Given the description of an element on the screen output the (x, y) to click on. 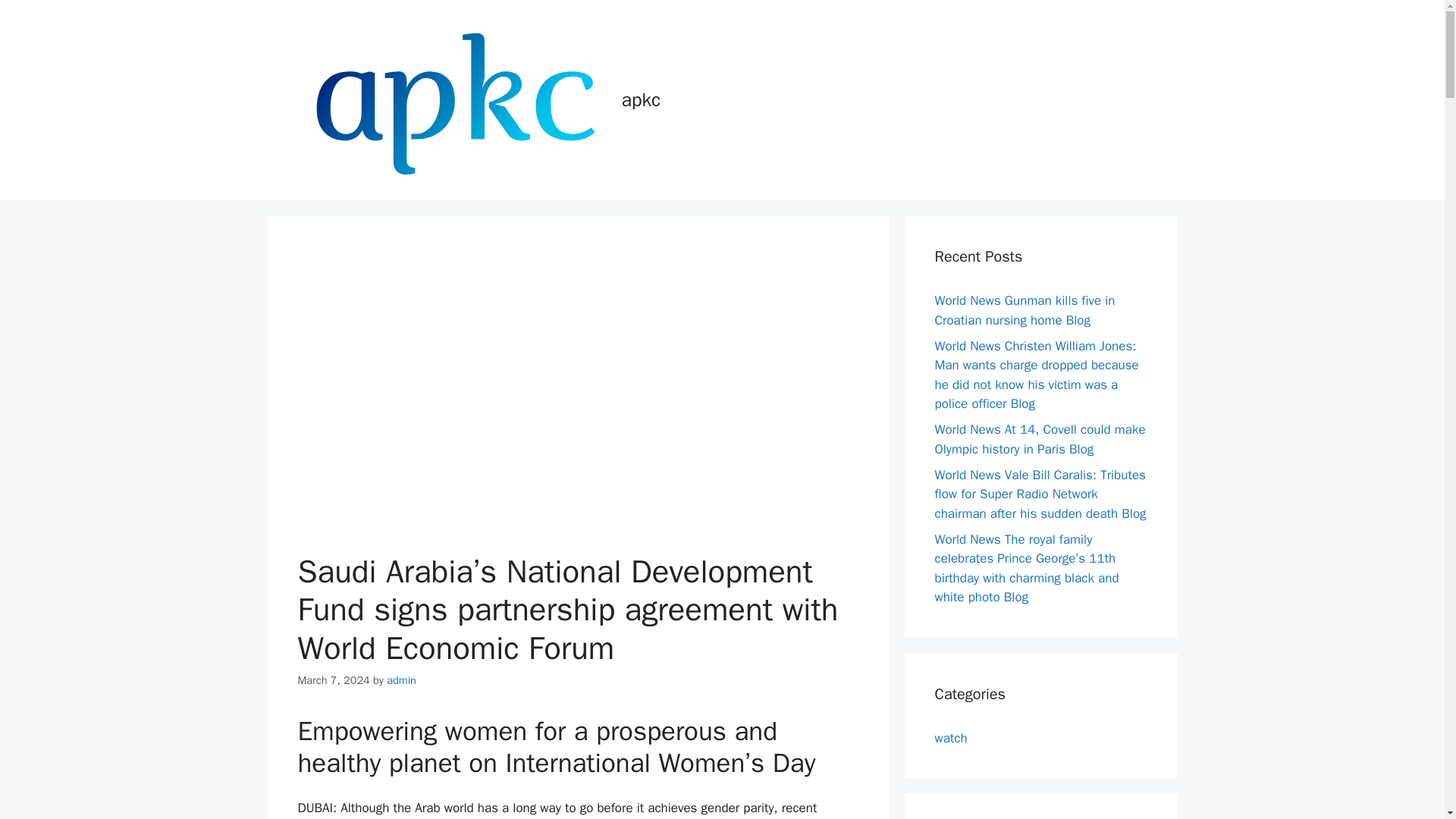
watch (950, 737)
World News Gunman kills five in Croatian nursing home Blog (1024, 310)
admin (401, 680)
View all posts by admin (401, 680)
apkc (641, 99)
